Given the description of an element on the screen output the (x, y) to click on. 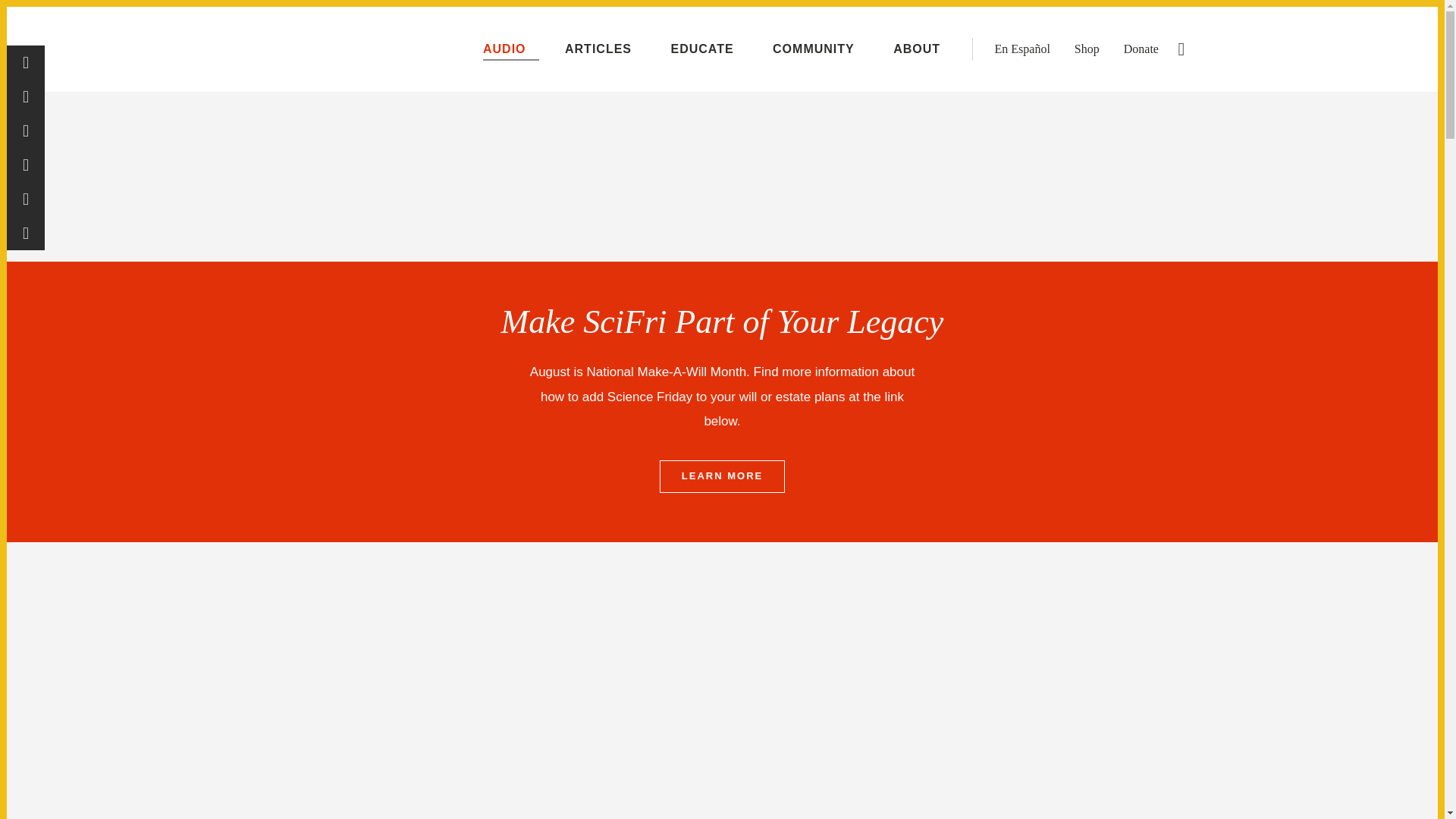
Facebook (26, 62)
EDUCATE (707, 48)
Email (26, 233)
Search (1181, 48)
LATEST EPISODE (1360, 20)
Threads (26, 96)
LinkedIn (26, 198)
Bluesky (26, 164)
Donate (1141, 48)
Learn more (721, 476)
